Given the description of an element on the screen output the (x, y) to click on. 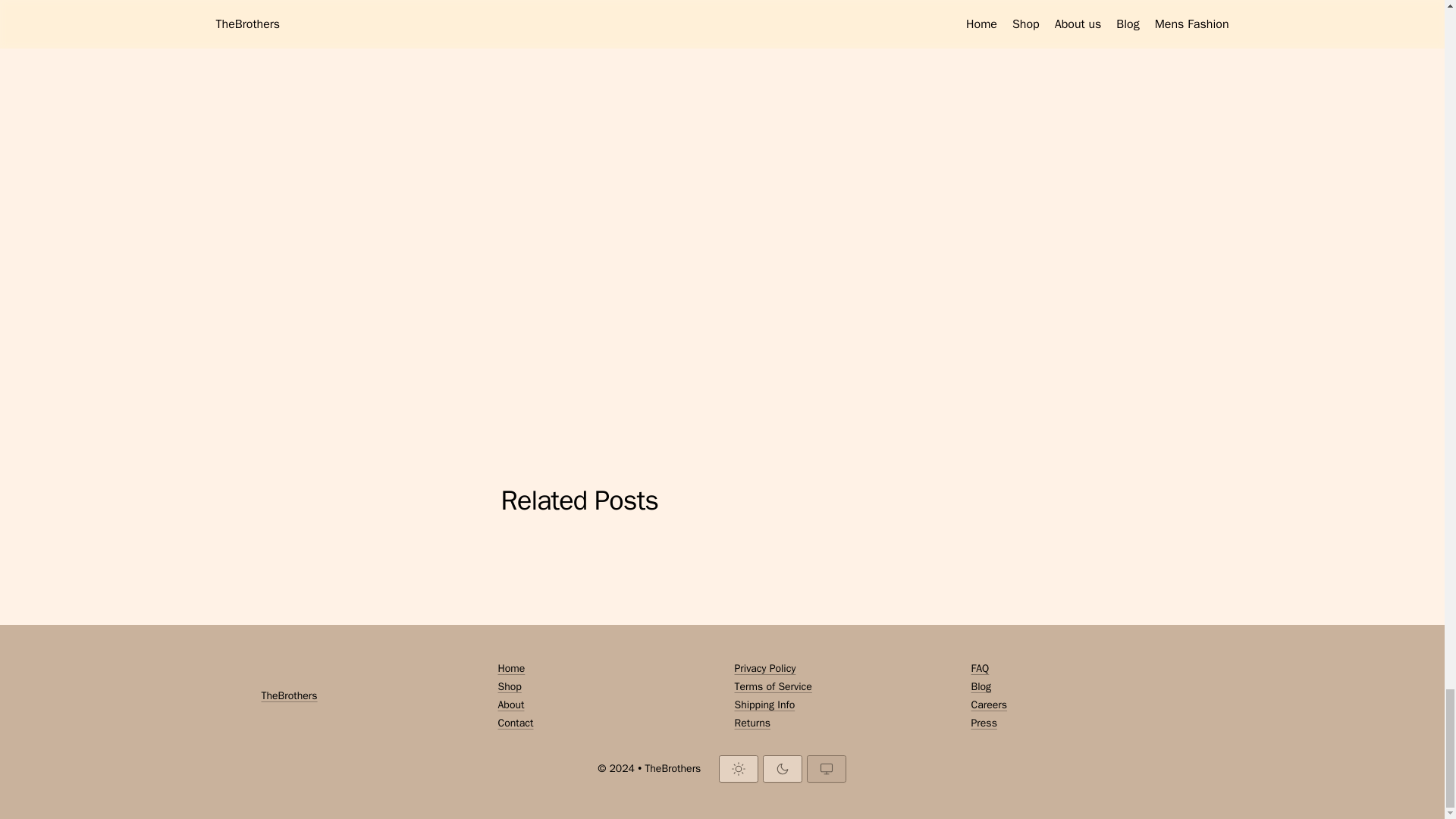
Careers (1076, 704)
About (603, 704)
FAQ (1076, 668)
Press (1076, 723)
Terms of Service (839, 686)
Home (603, 668)
TheBrothers (288, 695)
Returns (839, 723)
Contact (603, 723)
Shop (603, 686)
